Given the description of an element on the screen output the (x, y) to click on. 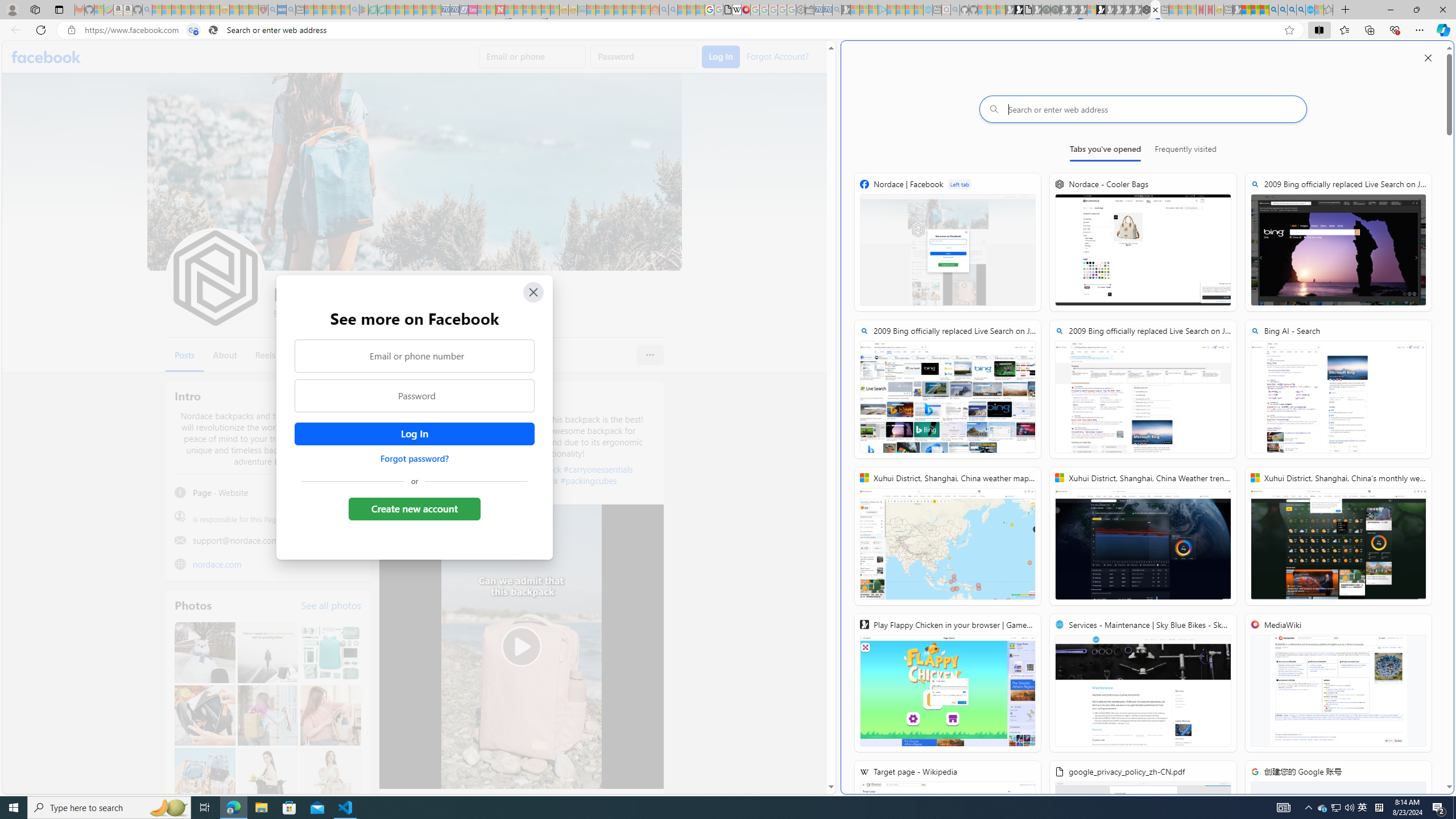
Home | Sky Blue Bikes - Sky Blue Bikes - Sleeping (927, 9)
Facebook (46, 56)
Forgot password? (414, 458)
Bluey: Let's Play! - Apps on Google Play - Sleeping (362, 9)
MSN - Sleeping (1236, 9)
Trusted Community Engagement and Contributions | Guidelines (508, 9)
Settings - Sleeping (799, 9)
Kinda Frugal - MSN - Sleeping (627, 9)
